Given the description of an element on the screen output the (x, y) to click on. 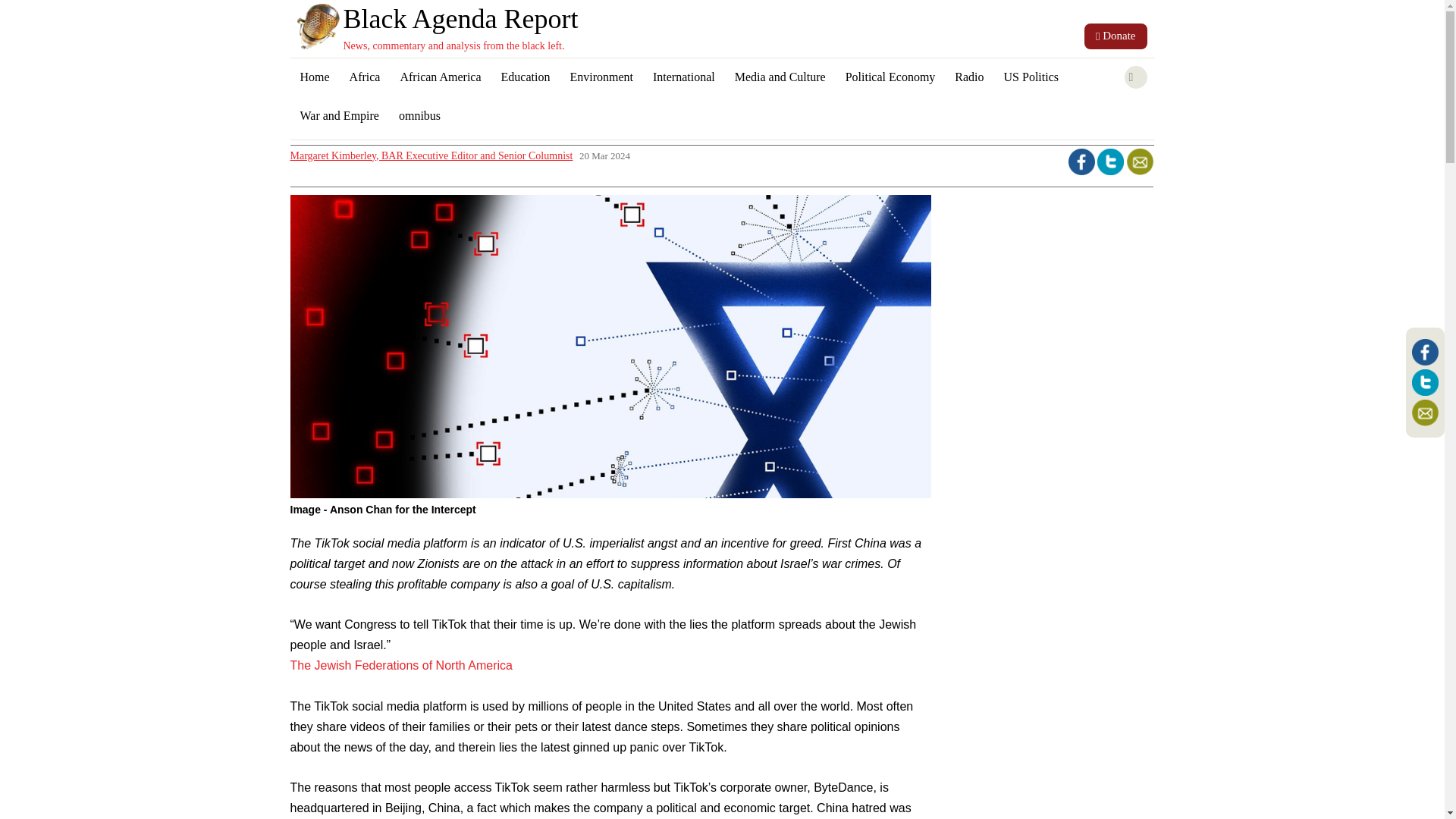
Media and Culture (780, 77)
African America (440, 77)
Africa (364, 77)
omnibus (418, 116)
International (684, 77)
The Jewish Federations of North America (400, 665)
Environment (601, 77)
Home (314, 77)
Education (526, 77)
War and Empire (338, 116)
